Given the description of an element on the screen output the (x, y) to click on. 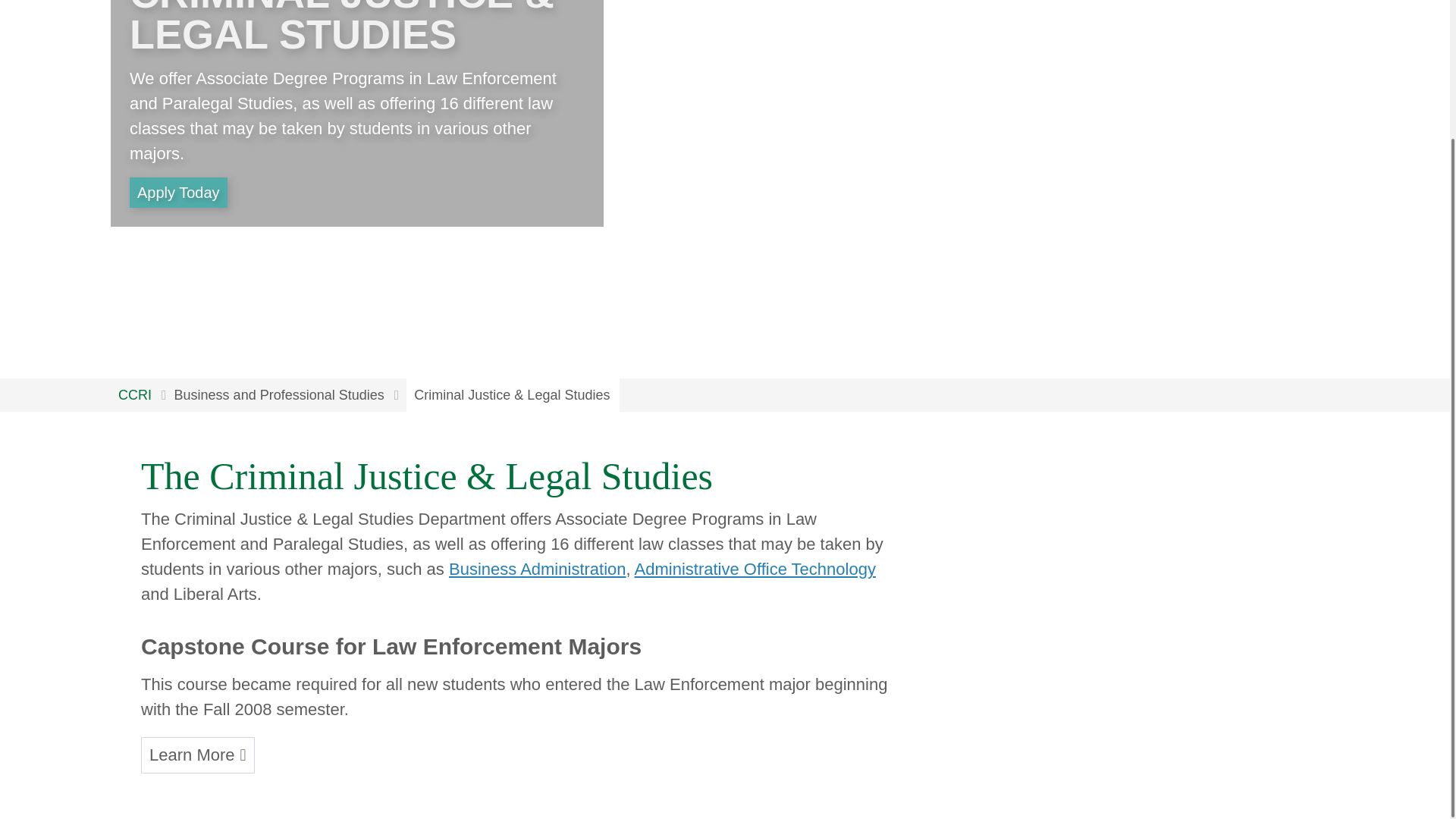
Learn more on capstone course in Law Enforcement (197, 755)
